Given the description of an element on the screen output the (x, y) to click on. 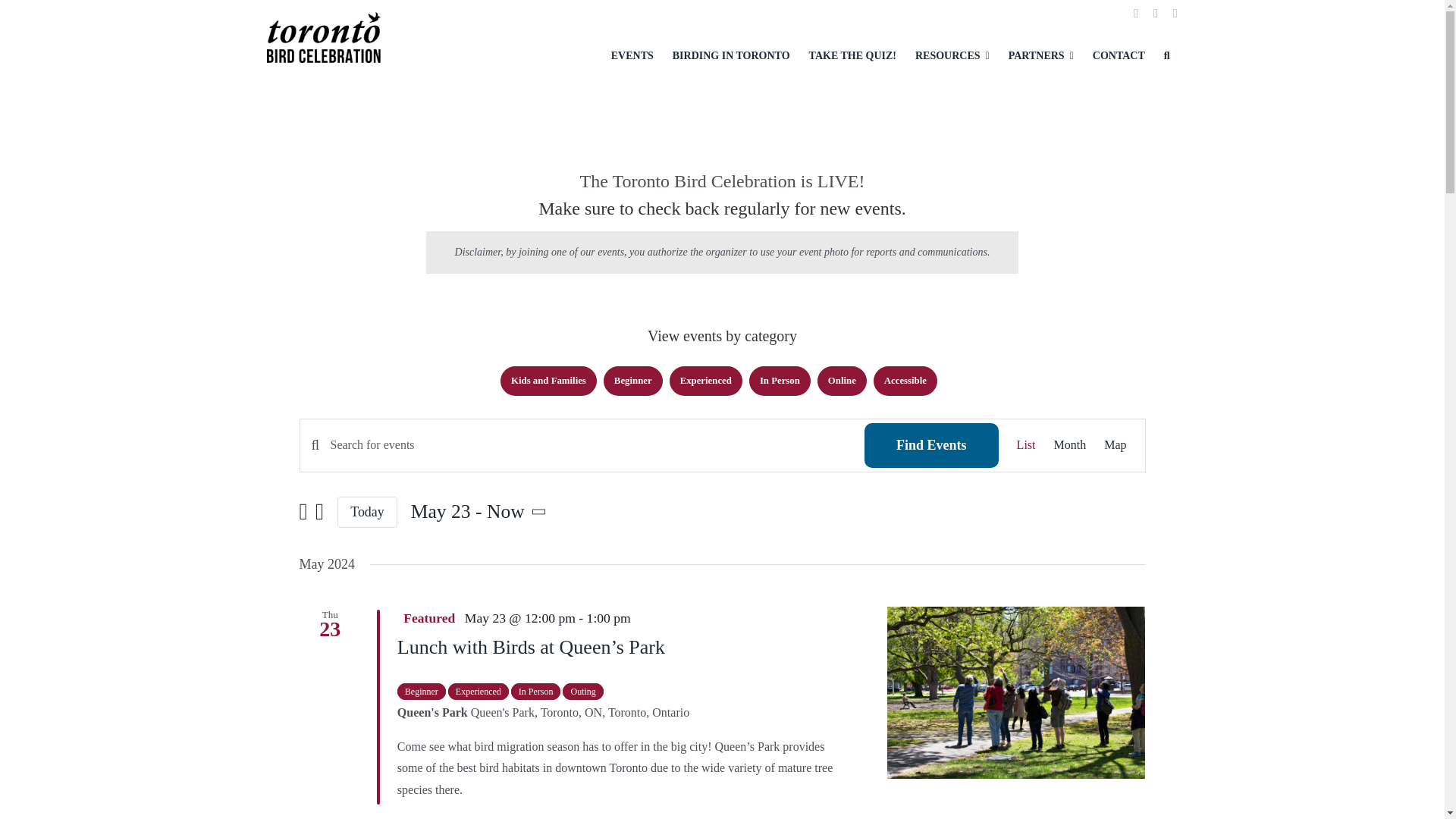
PARTNERS (1041, 55)
CONTACT (1118, 55)
Click to select today's date (367, 511)
BIRDING IN TORONTO (731, 55)
RESOURCES (952, 55)
EVENTS (632, 55)
TAKE THE QUIZ! (853, 55)
Click to toggle datepicker (480, 511)
